Given the description of an element on the screen output the (x, y) to click on. 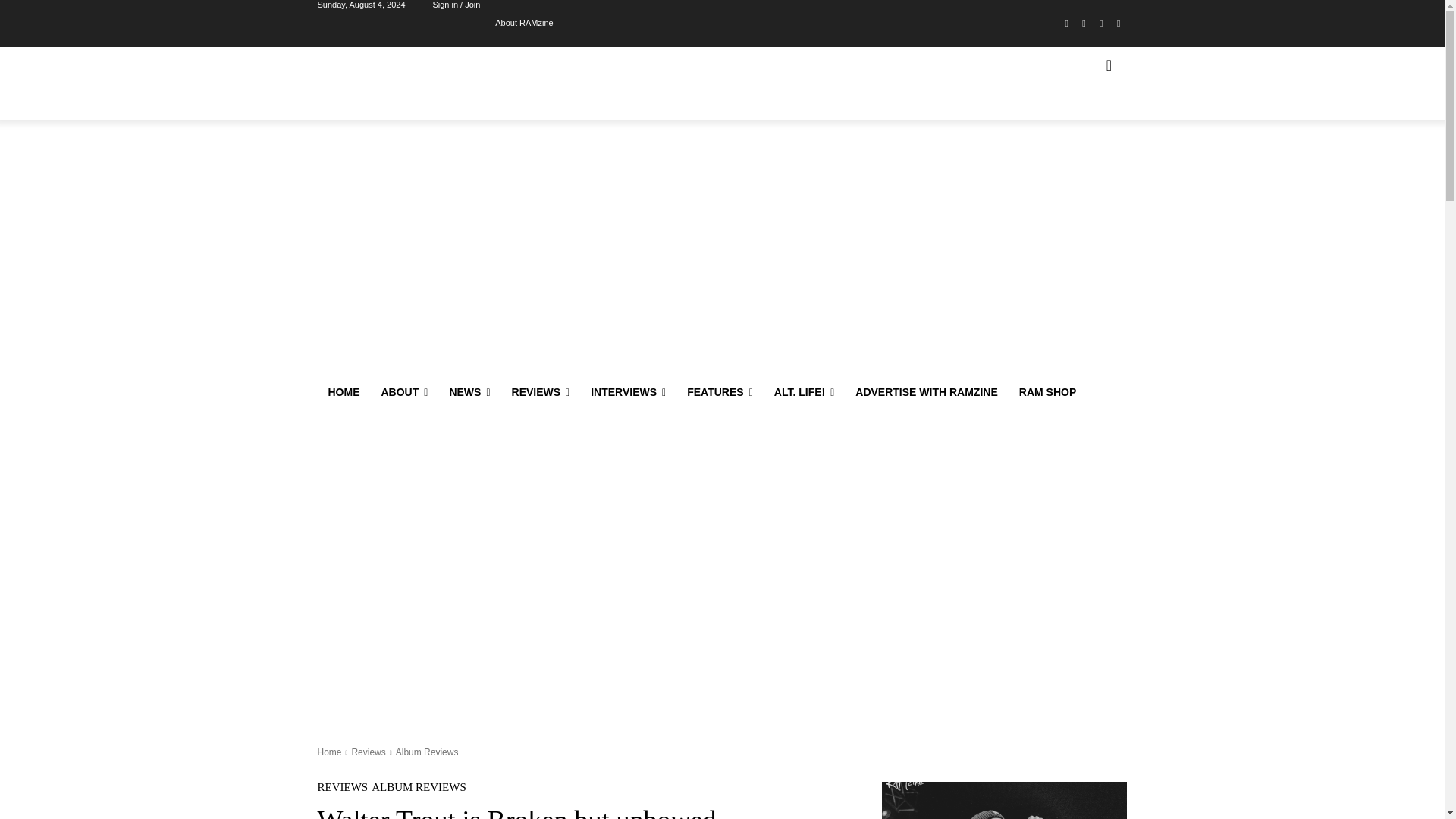
Youtube (1117, 23)
Twitter (1101, 23)
Facebook (1066, 23)
Instagram (1084, 23)
